Given the description of an element on the screen output the (x, y) to click on. 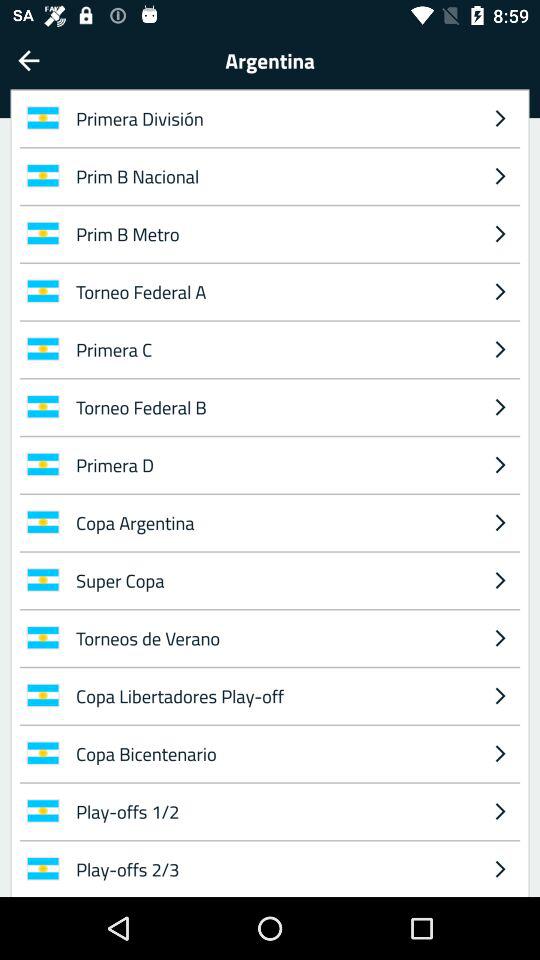
launch the icon below the prim b nacional item (500, 233)
